Given the description of an element on the screen output the (x, y) to click on. 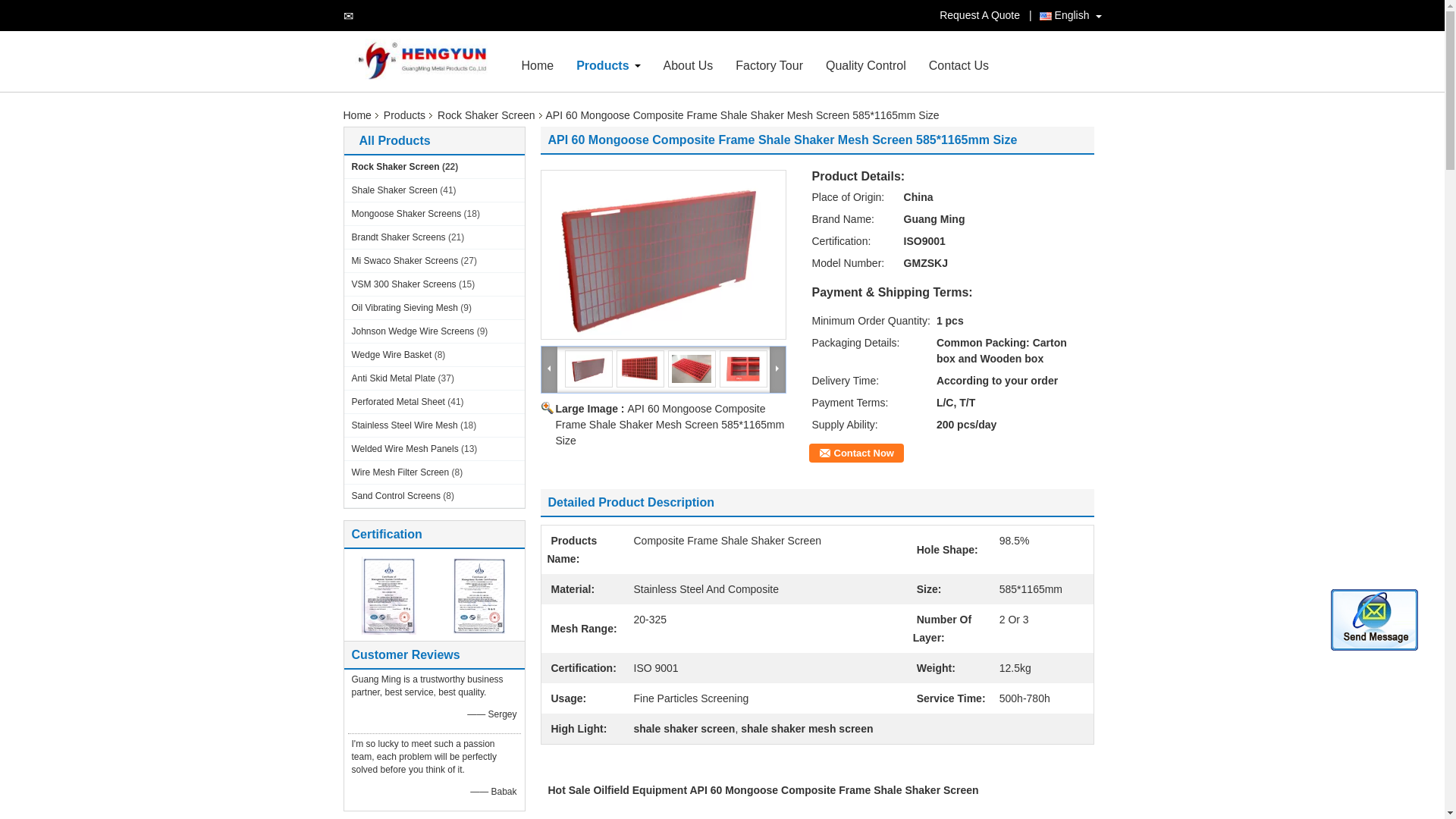
Quote (982, 15)
Home (537, 65)
China Rock Shaker Screen manufacturer (425, 60)
Request A Quote (982, 15)
Products (602, 65)
English (1064, 15)
